Given the description of an element on the screen output the (x, y) to click on. 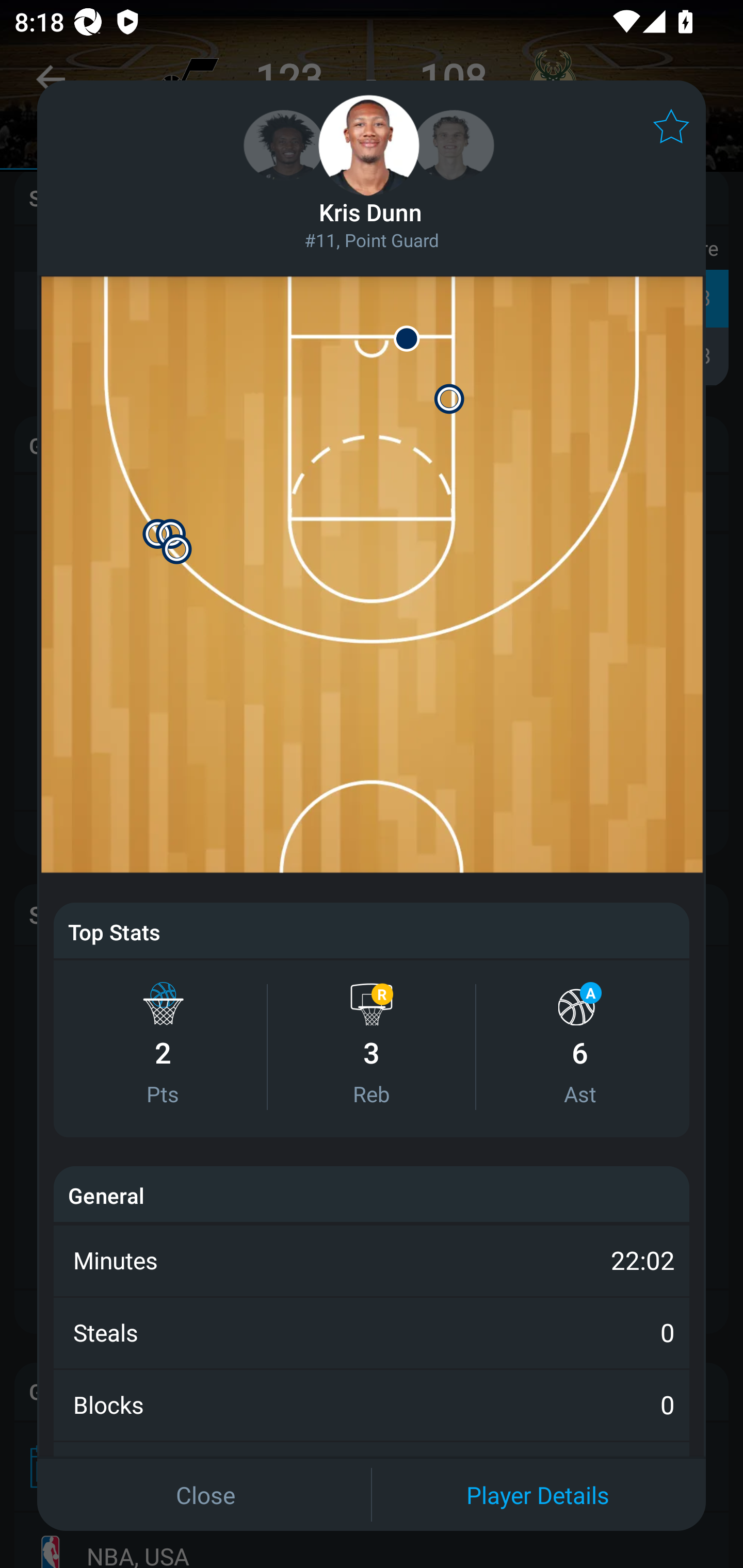
General (106, 1194)
Close (205, 1494)
Player Details (537, 1494)
